Given the description of an element on the screen output the (x, y) to click on. 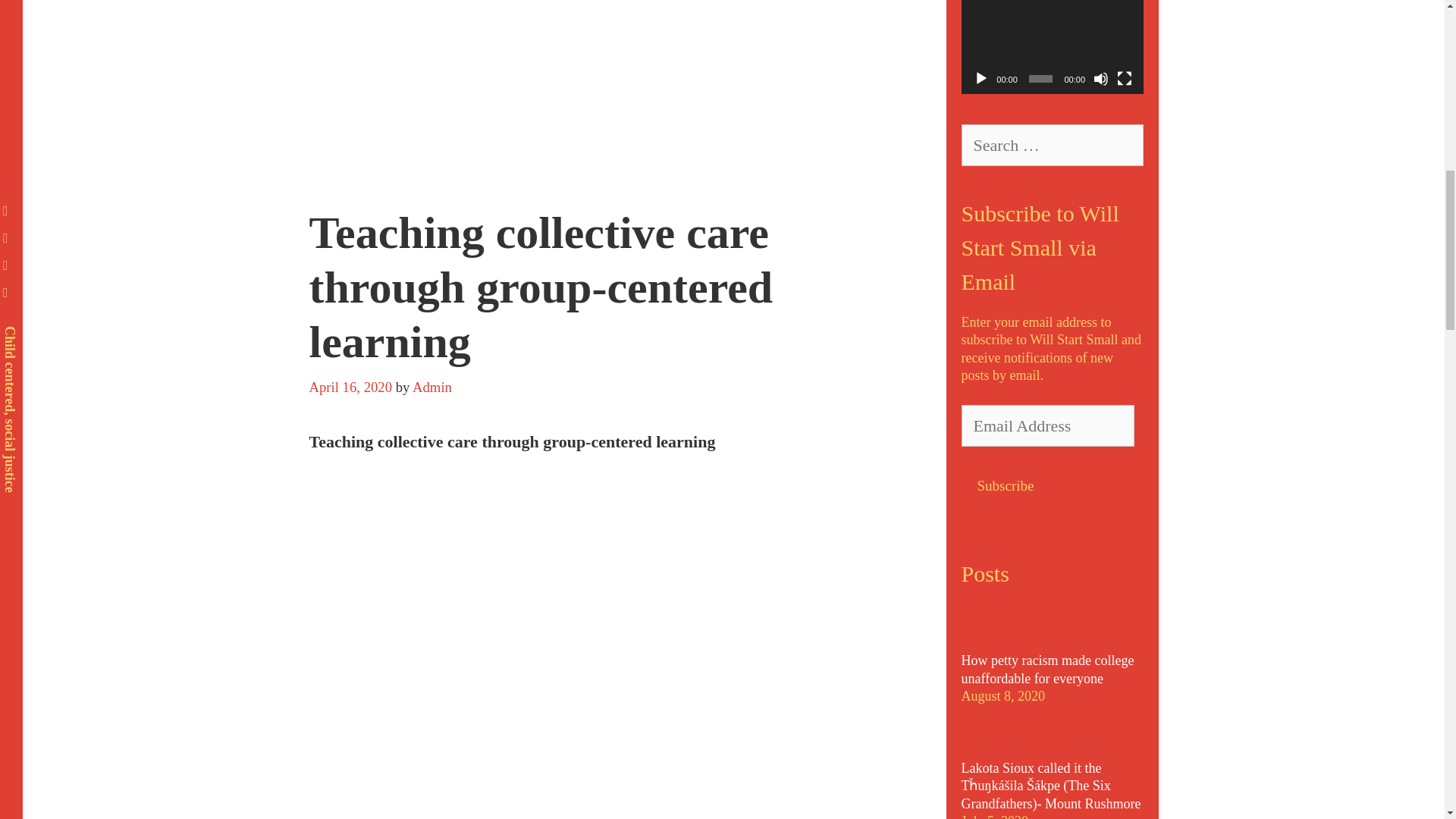
View all posts by Admin (431, 386)
8:22 am (350, 386)
